Given the description of an element on the screen output the (x, y) to click on. 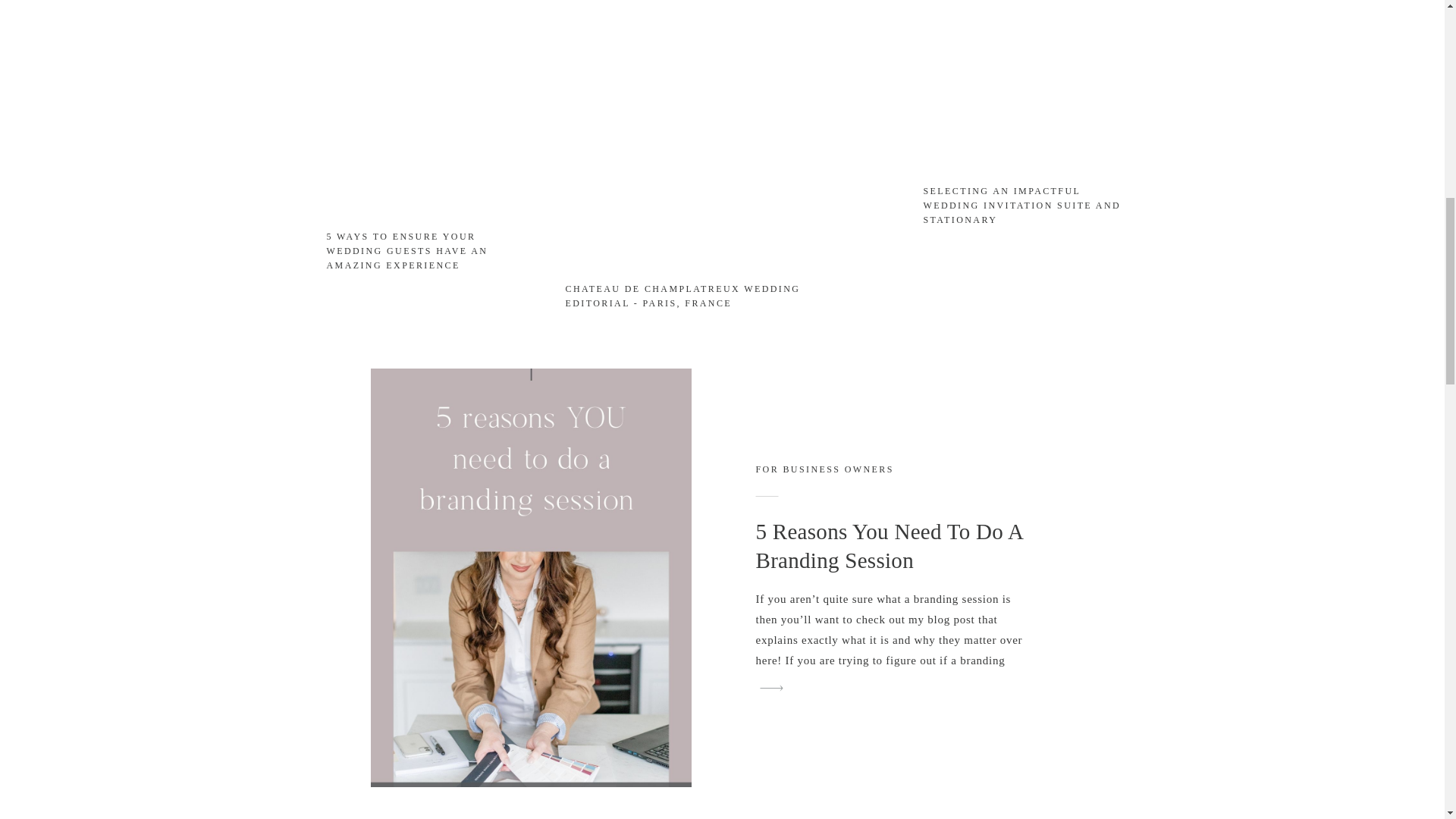
arrow (771, 688)
5 Reasons you Need to do a Branding Session (771, 688)
arrow (1104, 263)
arrow (1104, 263)
CHATEAU DE CHAMPLATREUX WEDDING EDITORIAL - PARIS, FRANCE (713, 298)
